Given the description of an element on the screen output the (x, y) to click on. 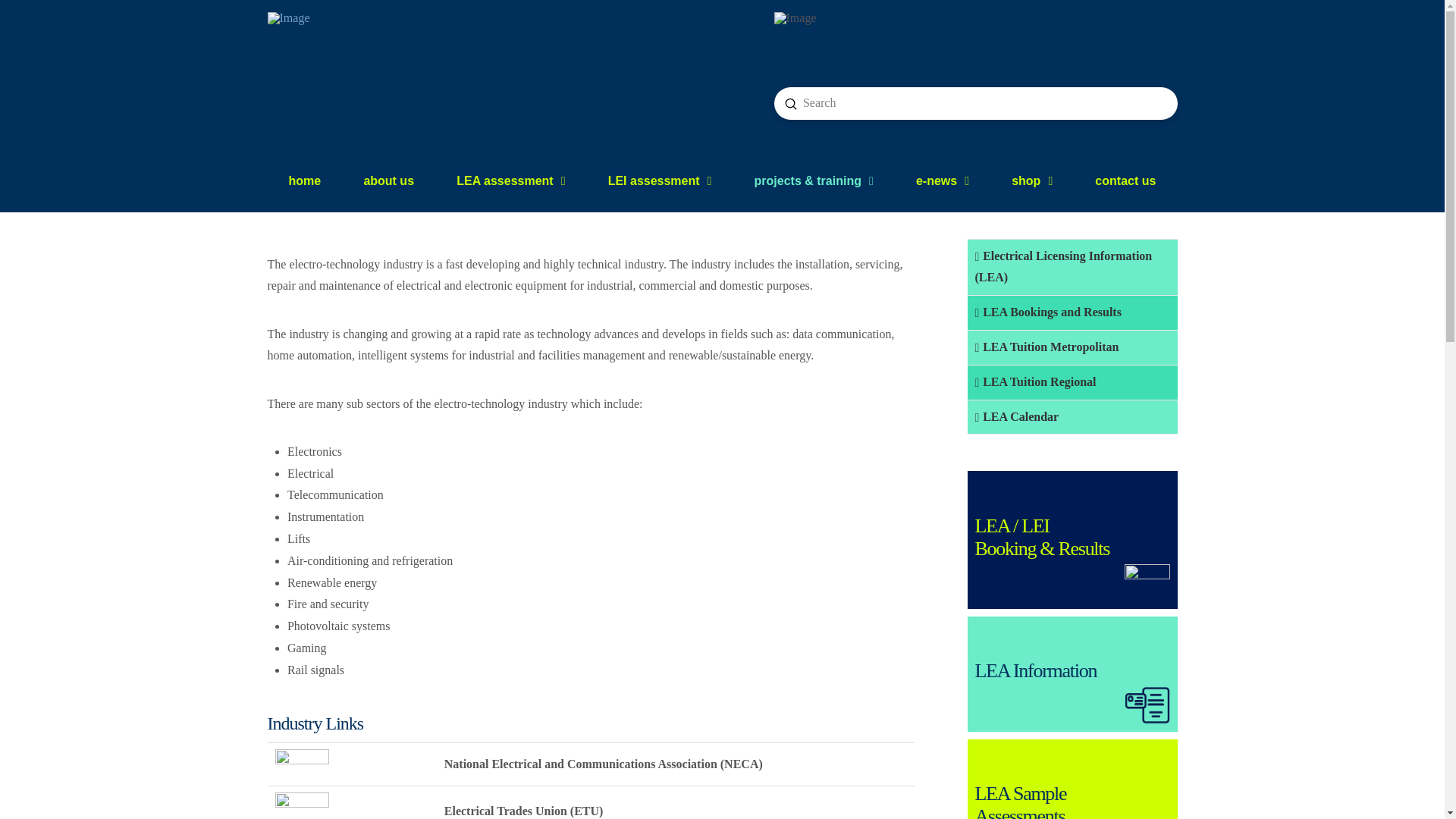
e-news (941, 180)
about us (388, 180)
contact us (1125, 180)
shop (1031, 180)
Electrical Trades Union (302, 805)
National Electrical and Communications Association (302, 764)
Electrical Trades Union (302, 809)
National Electrical and Communications Association (302, 762)
LEI assessment (660, 180)
home (305, 180)
Submit (790, 103)
LEA assessment (511, 180)
